Given the description of an element on the screen output the (x, y) to click on. 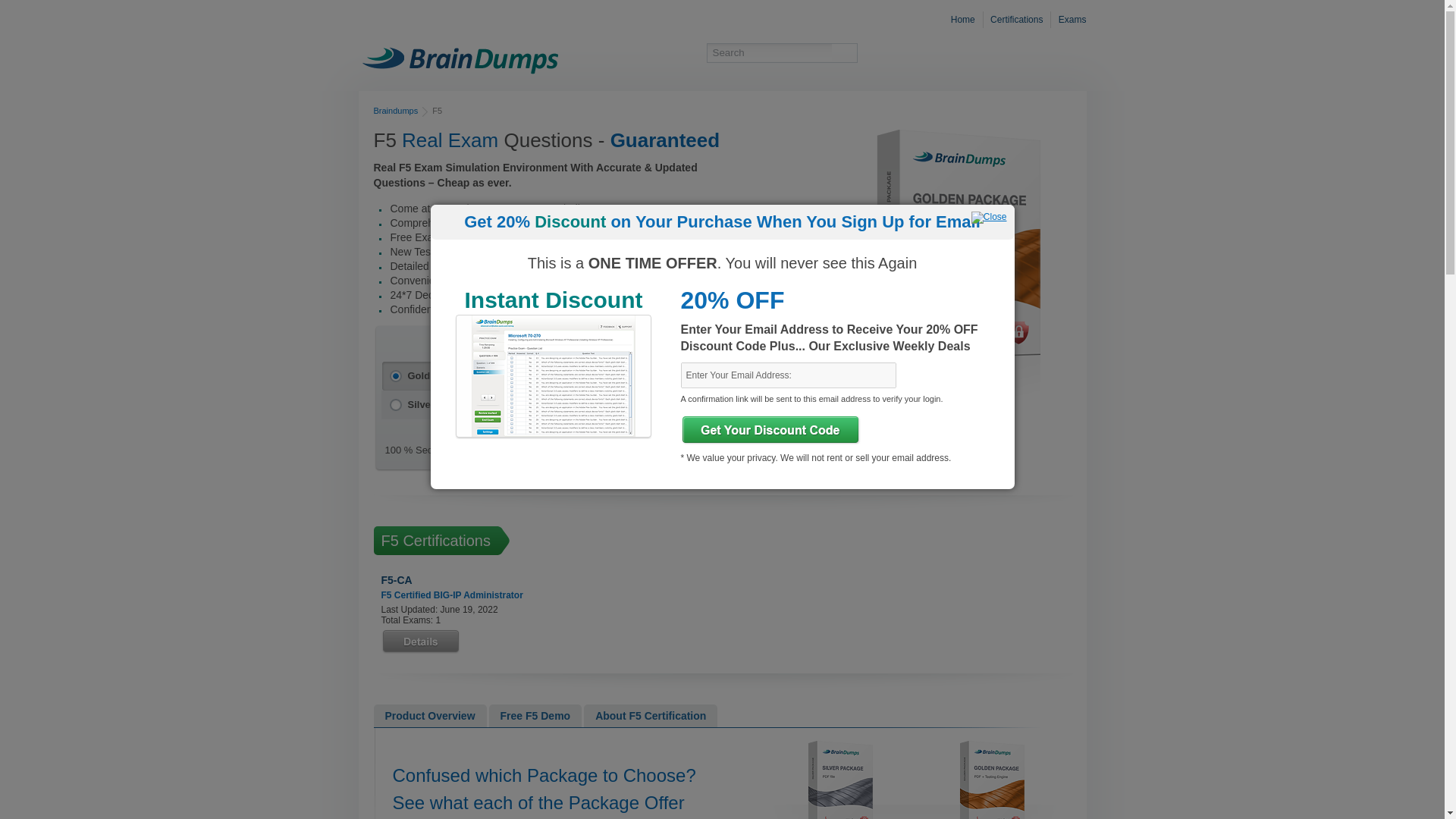
Close (989, 217)
F5-CA Details (419, 641)
About F5 Certification (650, 715)
actual-exam.com (460, 58)
Exams (1070, 19)
Enter Your Email Address: (788, 375)
Get Your Discount Code (770, 429)
Free F5 Demo (535, 715)
Buy Now (755, 444)
Search (844, 53)
Braindumps Gold Package (946, 263)
Braindumps (394, 110)
Home (965, 19)
Search (768, 53)
Product Overview (429, 715)
